Given the description of an element on the screen output the (x, y) to click on. 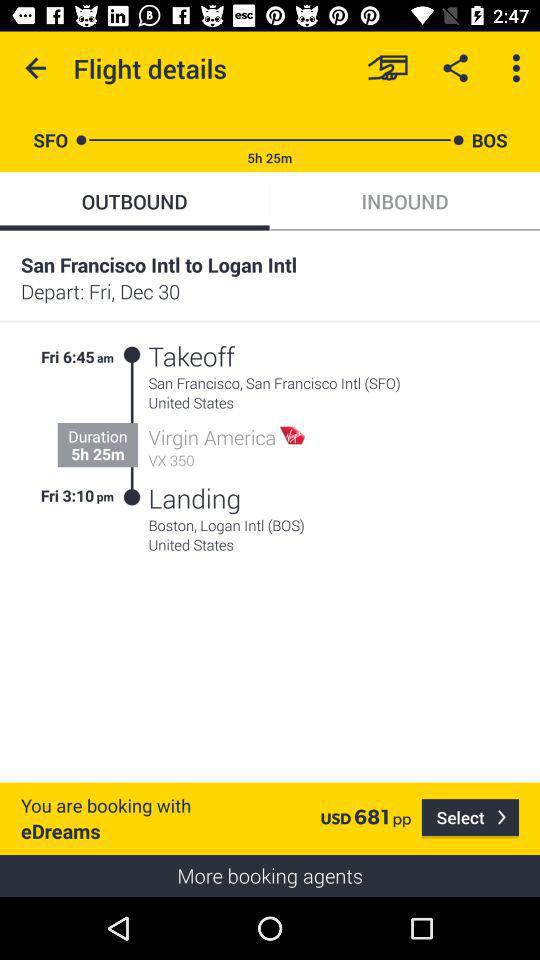
press the am icon (106, 354)
